Given the description of an element on the screen output the (x, y) to click on. 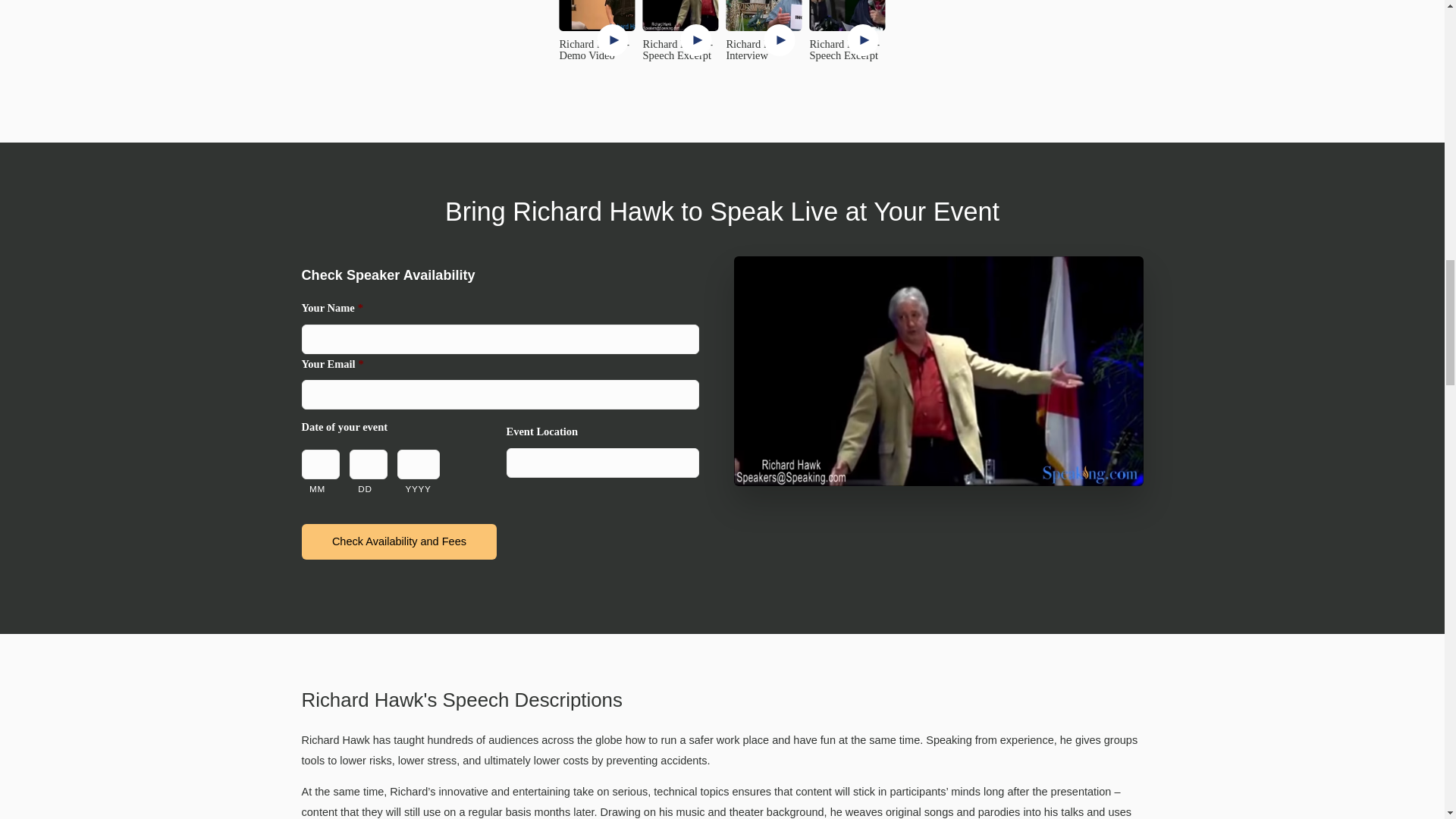
Check Availability and Fees (399, 541)
Check Availability and Fees (399, 541)
